Given the description of an element on the screen output the (x, y) to click on. 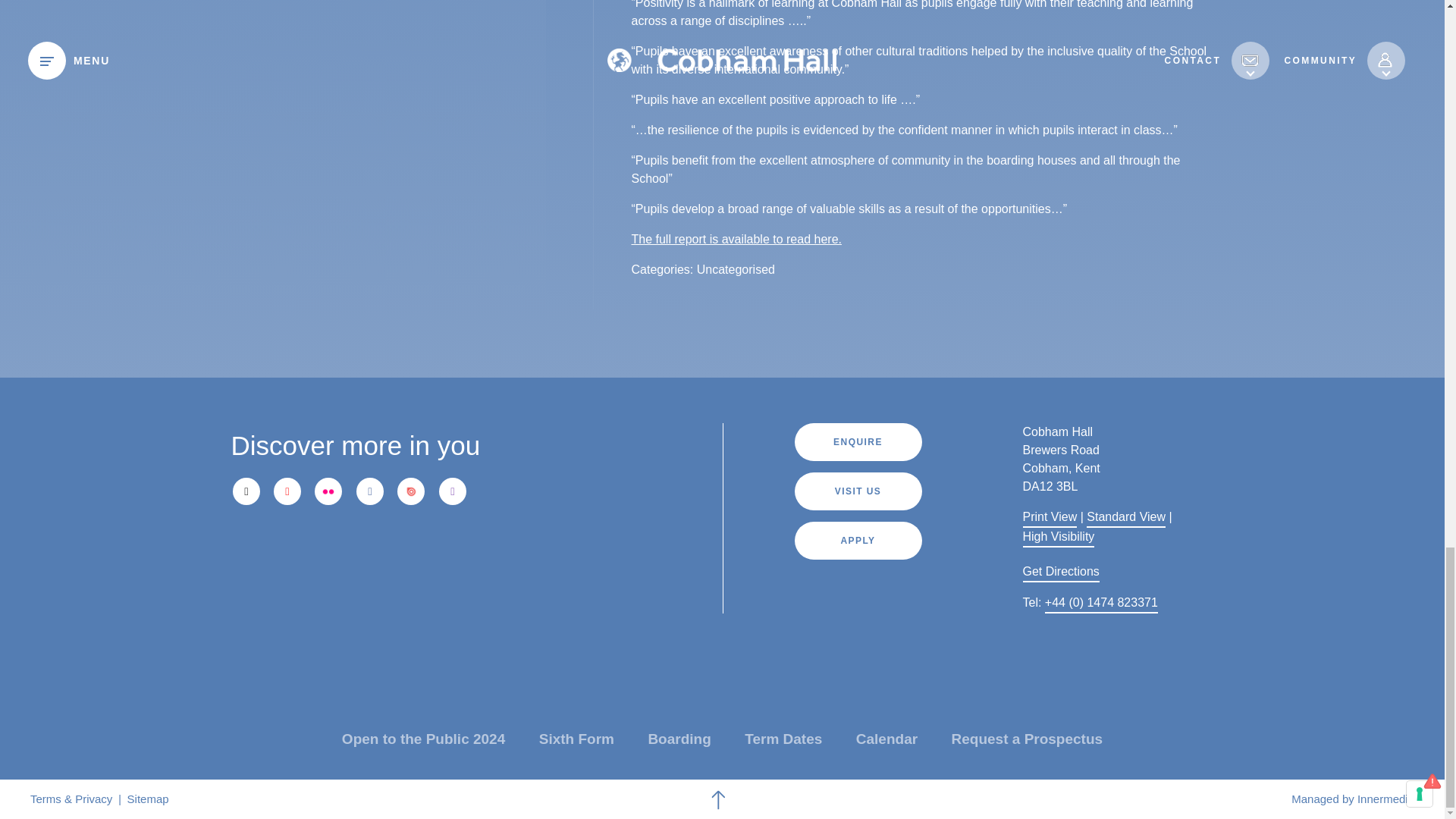
GSA (464, 610)
round square (491, 547)
School Policies and Inspection Reports (735, 239)
DofE (263, 610)
Mill Hill Education Group (344, 547)
WomensClub (560, 610)
Cambridge (574, 547)
BSA (619, 610)
Crested (353, 609)
